Given the description of an element on the screen output the (x, y) to click on. 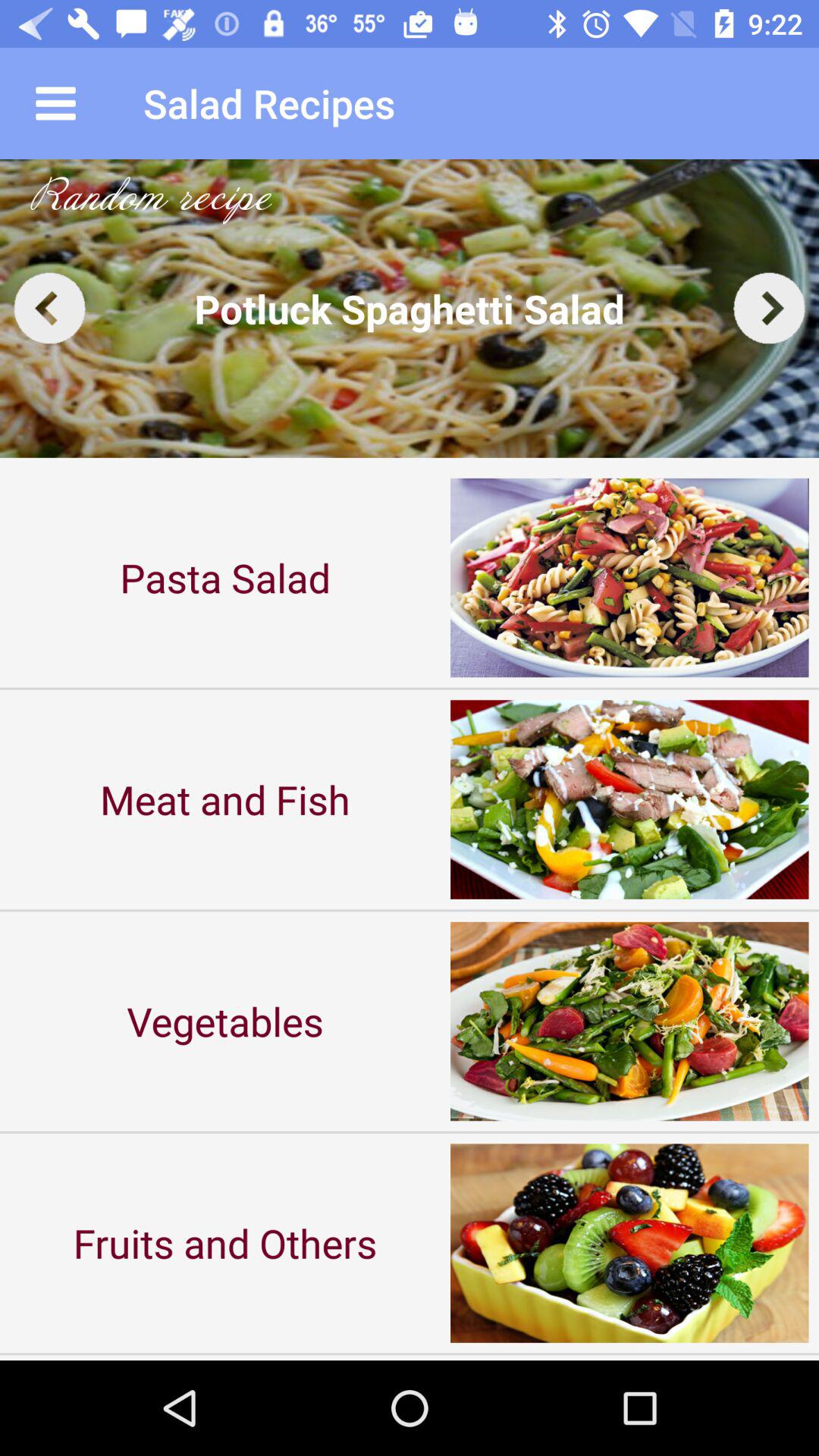
select vegetables (225, 1020)
